Given the description of an element on the screen output the (x, y) to click on. 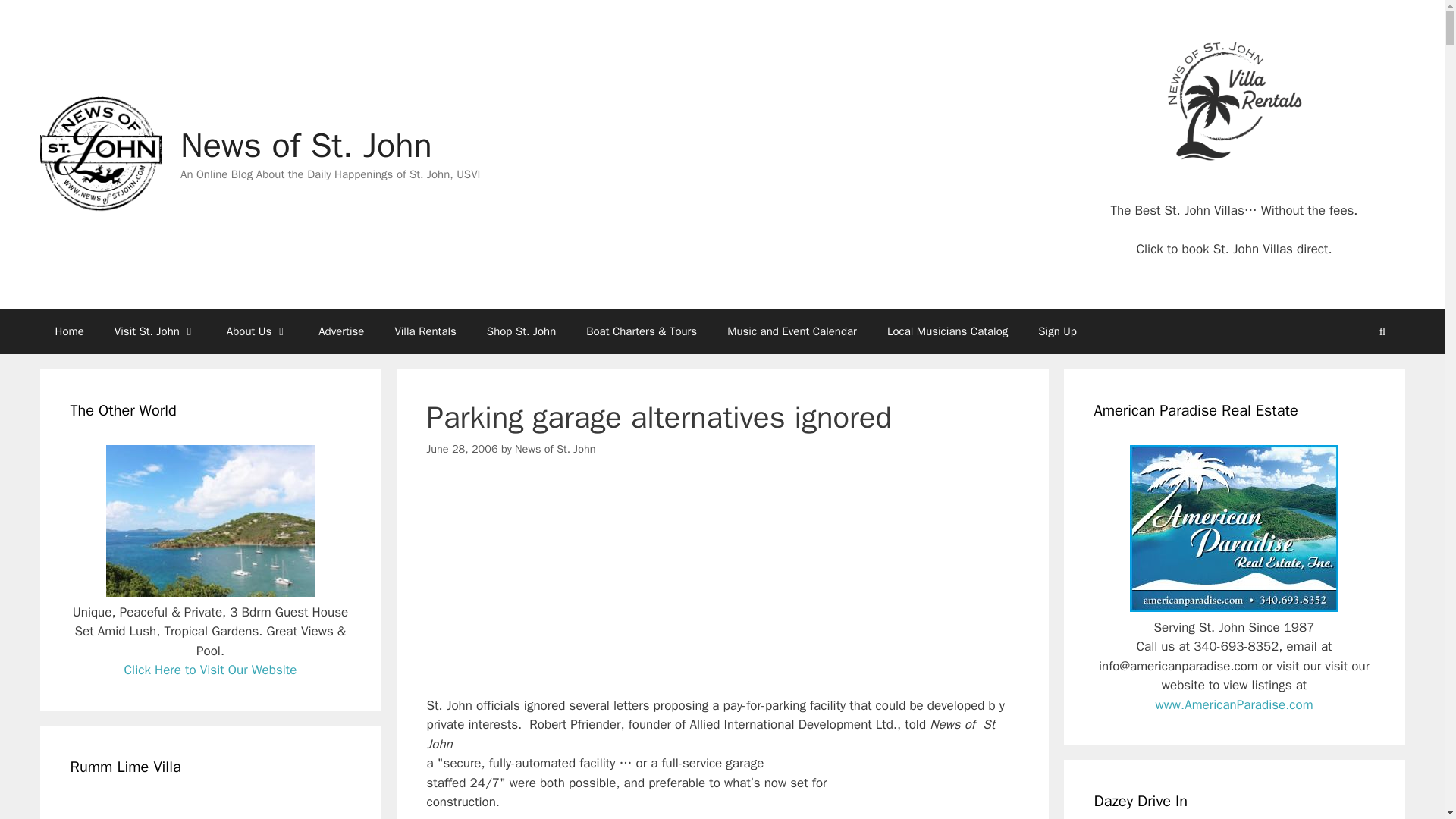
Search (1382, 330)
Click Here to Visit Our Website (210, 669)
View all posts by News of St. John (555, 448)
Home (69, 330)
News of St. John (306, 145)
News of St. John (99, 153)
News of St. John (99, 154)
Music and Event Calendar (791, 330)
About Us (256, 330)
News of St. John (555, 448)
